Given the description of an element on the screen output the (x, y) to click on. 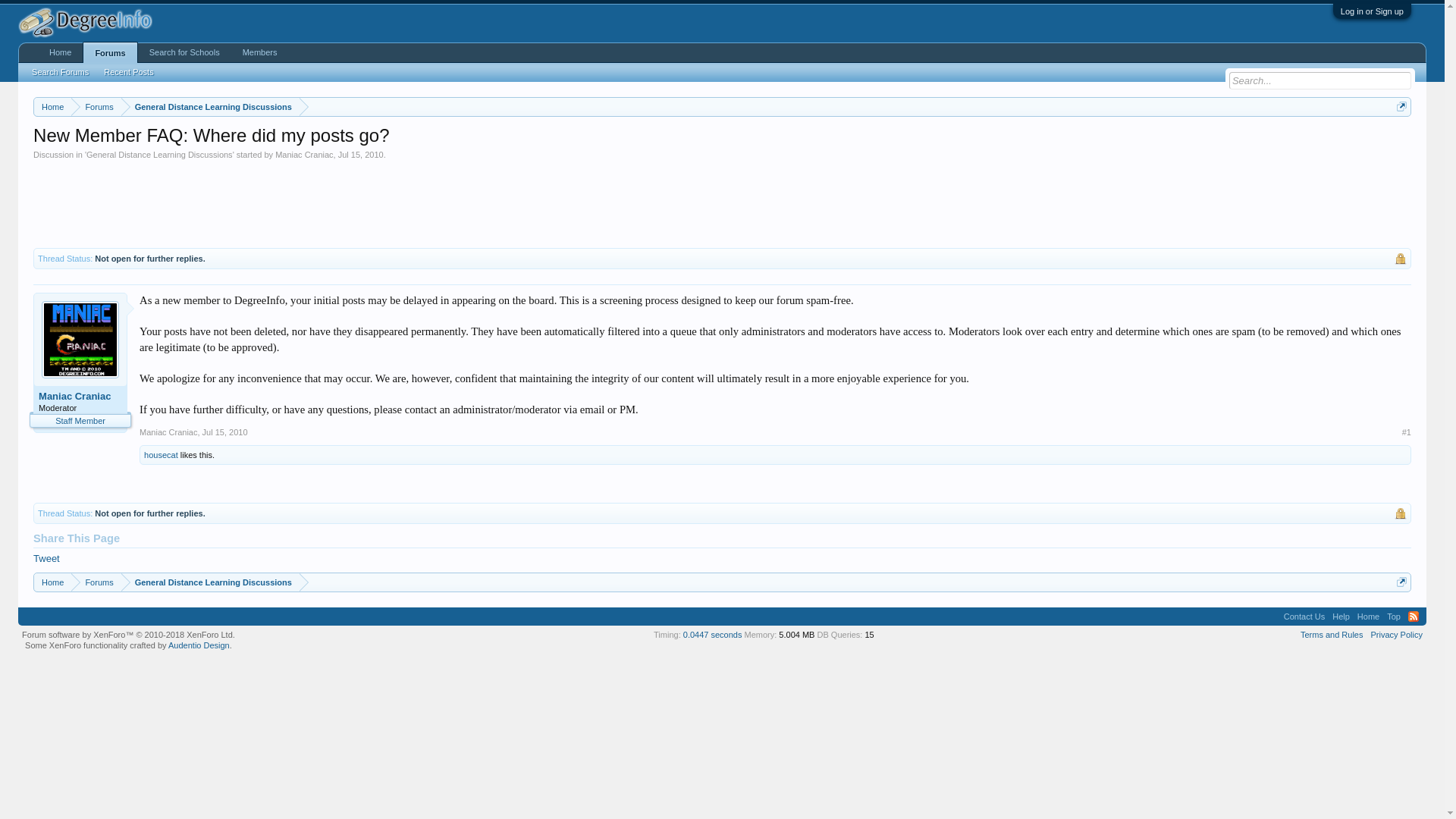
Home (59, 52)
Maniac Craniac (304, 153)
Home (1368, 616)
Forums (109, 52)
Log in or Sign up (1371, 10)
General Distance Learning Discussions (209, 582)
Enter your search and hit enter (1319, 80)
housecat (160, 454)
Maniac Craniac (167, 431)
Forums (95, 107)
Maniac Craniac (80, 396)
Jul 15, 2010 (224, 431)
Search Forums (60, 72)
Jul 15, 2010 (360, 153)
Members (259, 52)
